Given the description of an element on the screen output the (x, y) to click on. 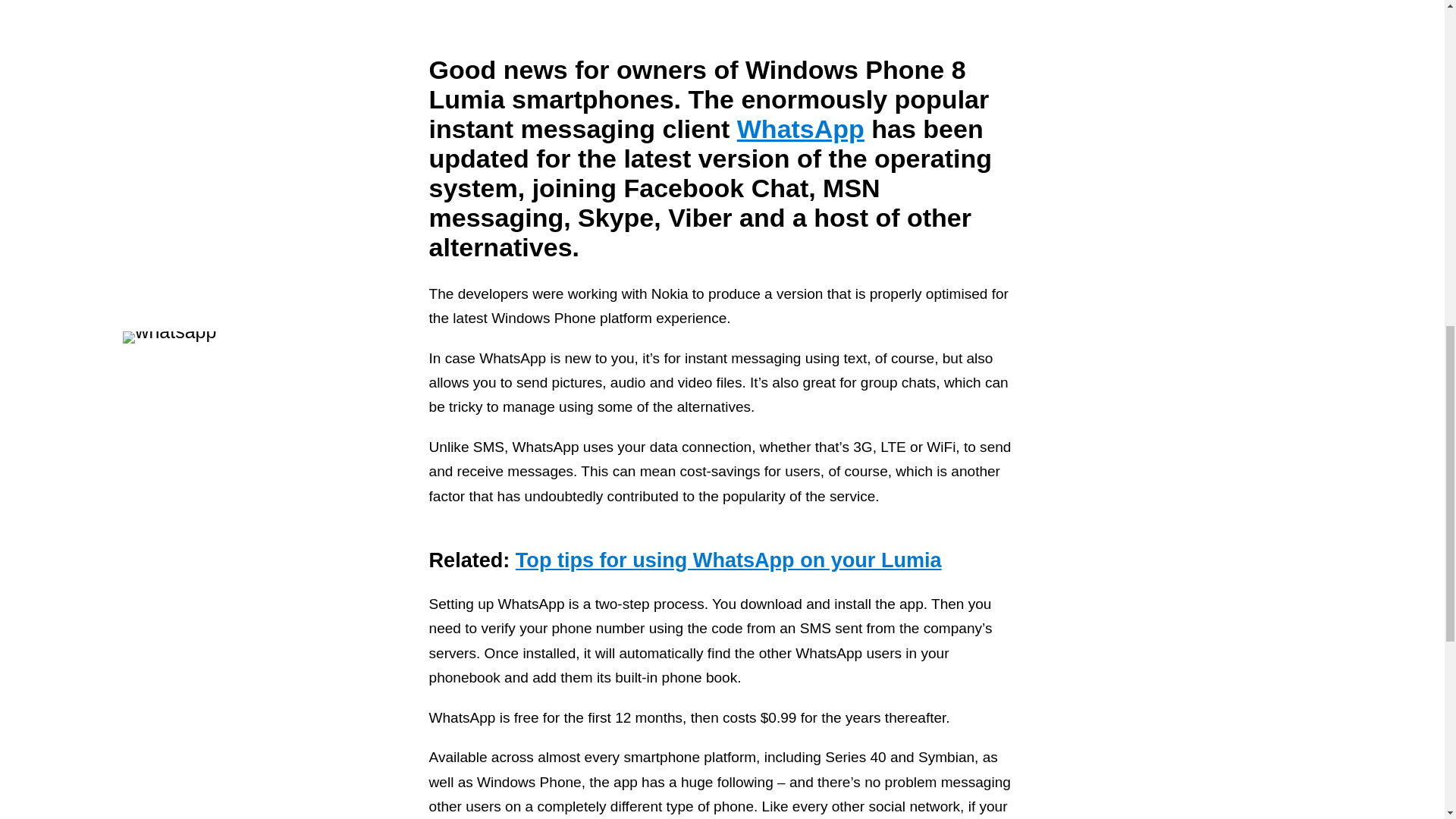
whatsapp (260, 561)
